Given the description of an element on the screen output the (x, y) to click on. 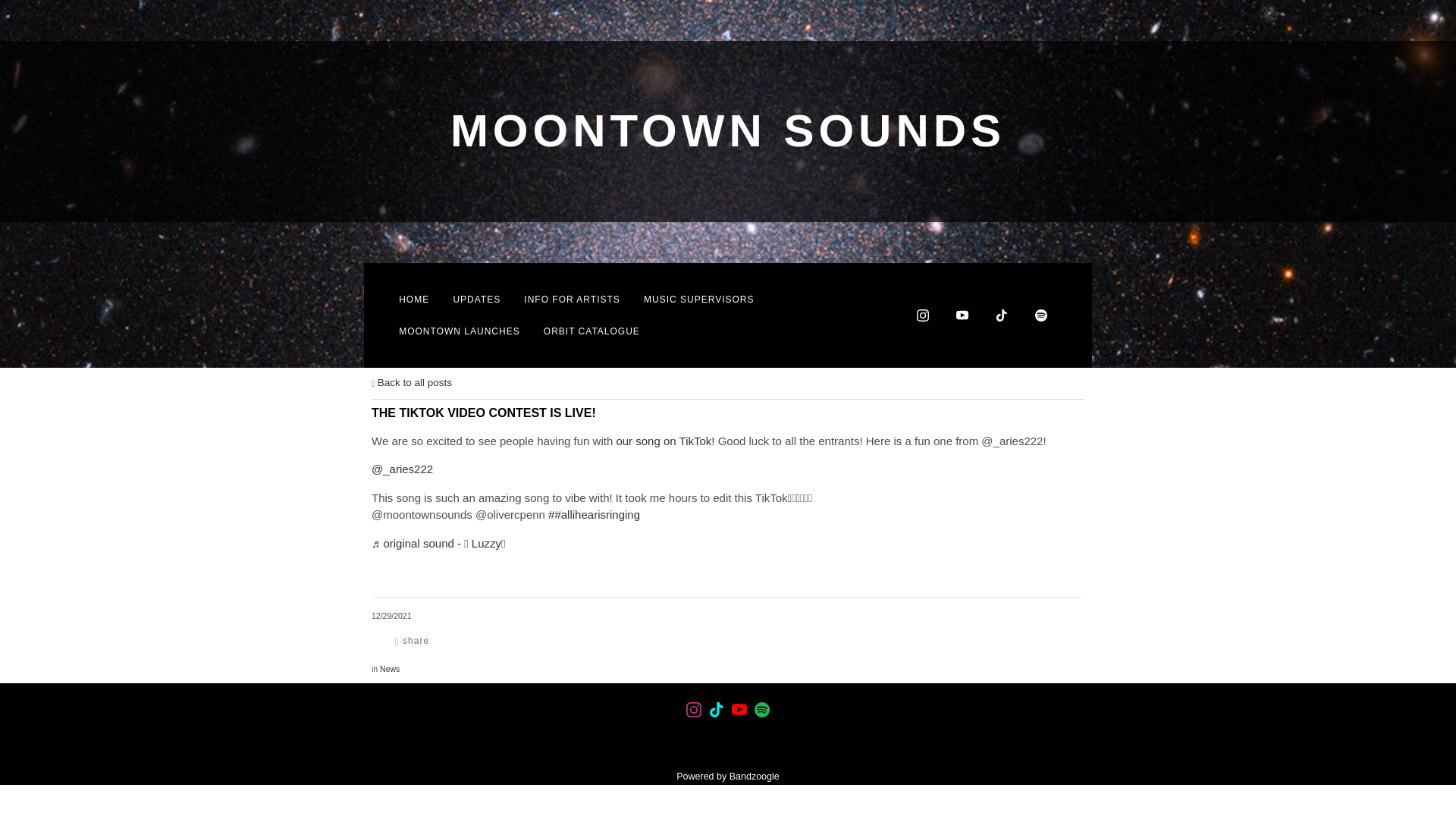
Share The TikTok Video Contest is Live! (411, 640)
MOONTOWN SOUNDS (727, 138)
UPDATES (476, 299)
ORBIT CATALOGUE (591, 331)
Powered by Bandzoogle (727, 776)
Back to all posts (411, 382)
MUSIC SUPERVISORS (698, 299)
allihearisringing (594, 513)
MOONTOWN LAUNCHES (459, 331)
share (411, 640)
INFO FOR ARTISTS (571, 299)
News (389, 668)
HOME (413, 299)
December 29, 2021 14:08 (391, 614)
Powered by Bandzoogle (727, 776)
